Given the description of an element on the screen output the (x, y) to click on. 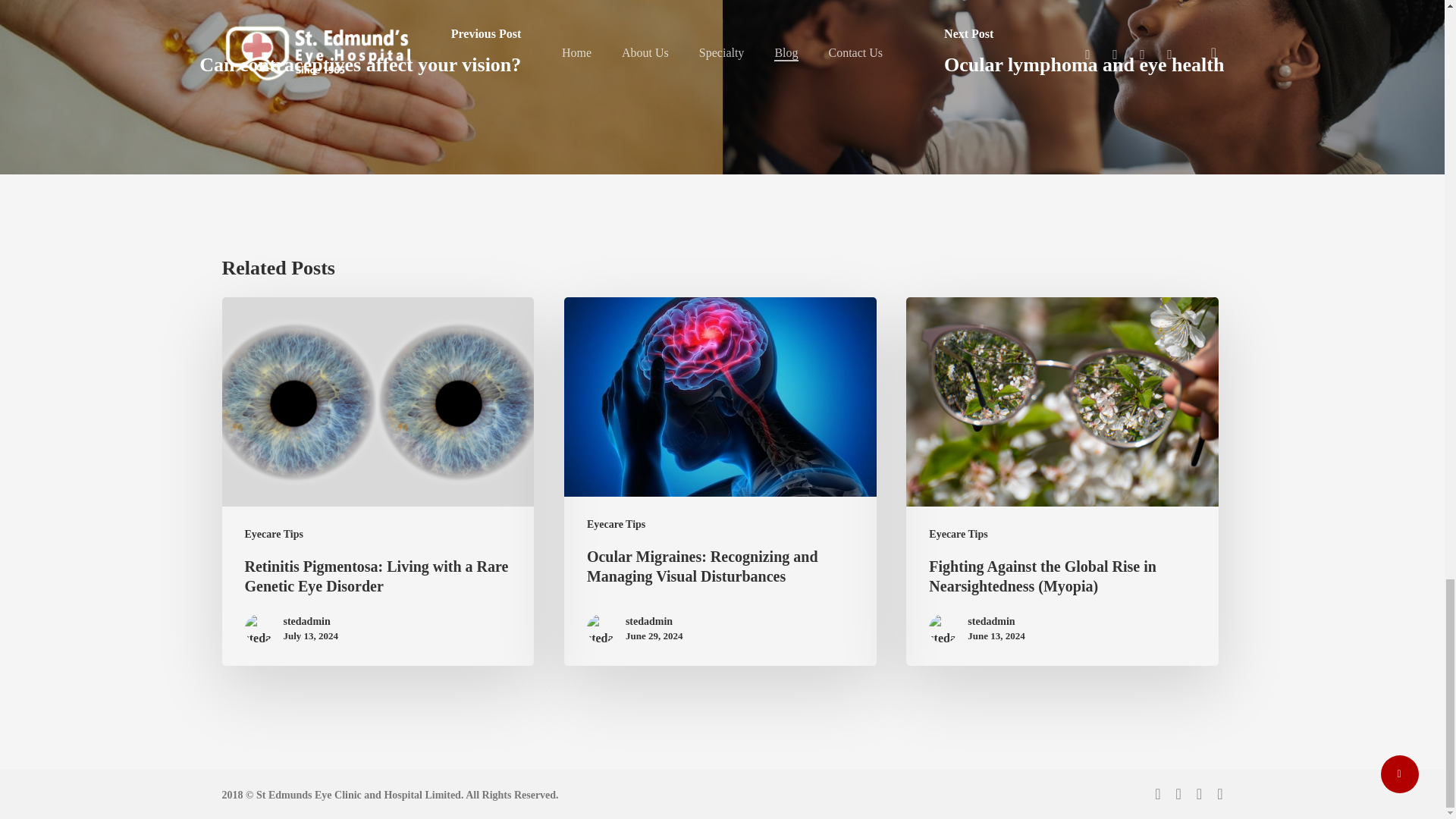
stedadmin (311, 621)
Eyecare Tips (273, 534)
